Given the description of an element on the screen output the (x, y) to click on. 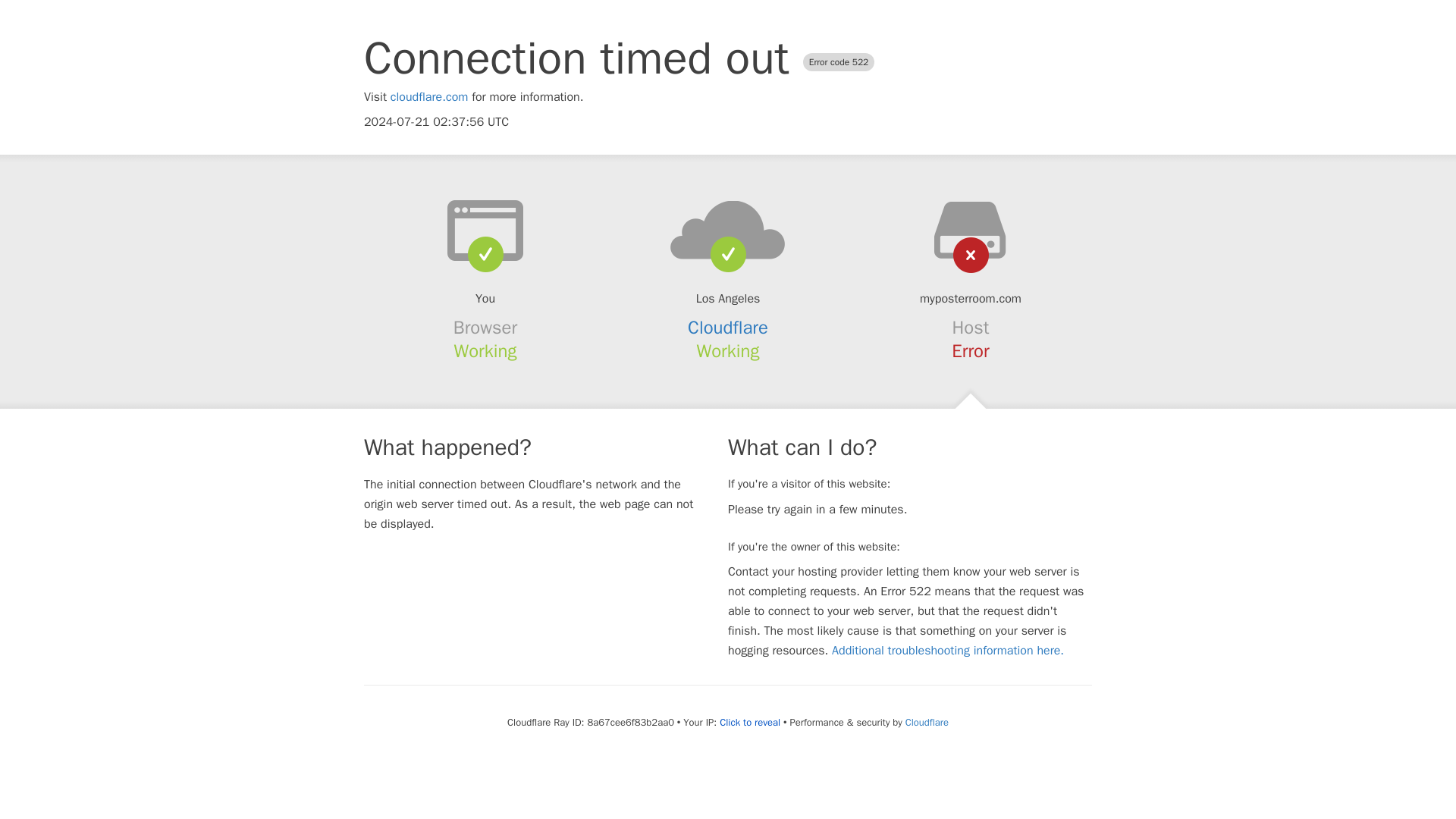
Cloudflare (727, 327)
Additional troubleshooting information here. (947, 650)
cloudflare.com (429, 96)
Cloudflare (927, 721)
Click to reveal (749, 722)
